Given the description of an element on the screen output the (x, y) to click on. 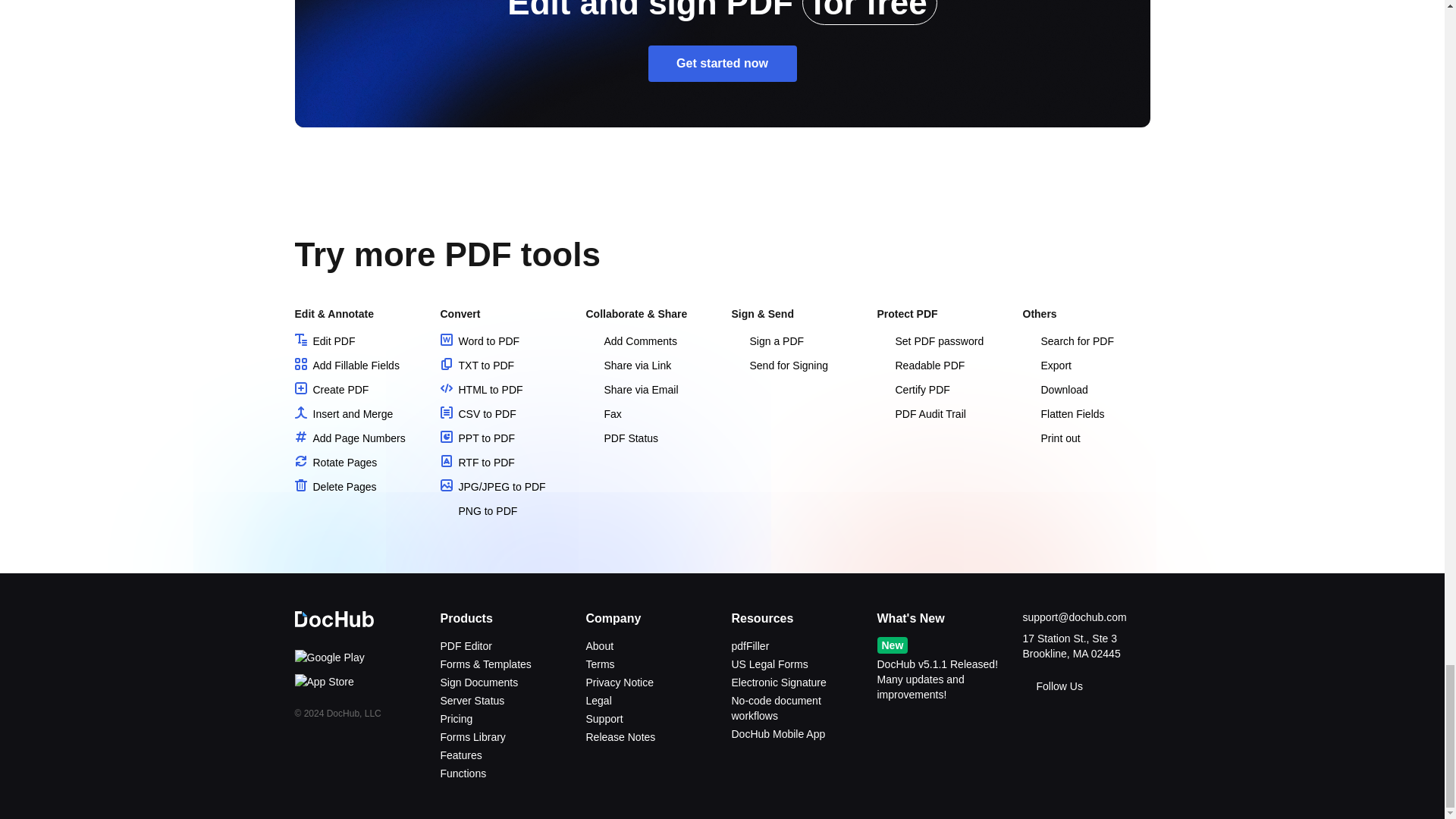
Edit PDF (324, 340)
TXT to PDF (476, 365)
Create PDF (331, 389)
Fax (603, 413)
PDF Status (621, 438)
PNG to PDF (477, 510)
HTML to PDF (480, 389)
PPT to PDF (476, 438)
Get started now (721, 63)
Rotate Pages (335, 462)
